Given the description of an element on the screen output the (x, y) to click on. 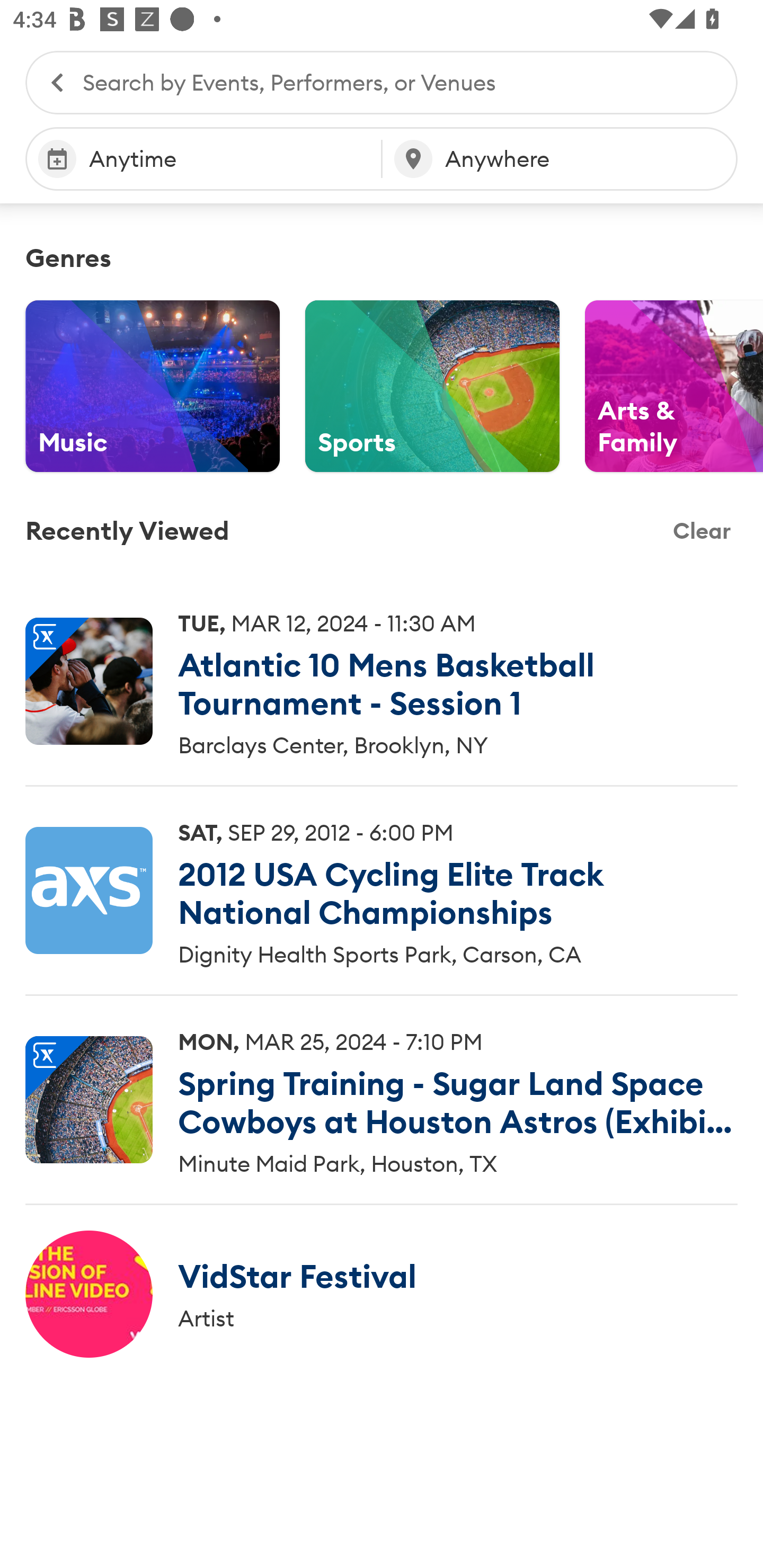
BackButton (47, 81)
Anytime (203, 158)
Anywhere (559, 158)
Music (152, 386)
Sports (432, 386)
Arts & Family (674, 386)
Clear (701, 531)
VidStar Festival Artist (381, 1293)
